Given the description of an element on the screen output the (x, y) to click on. 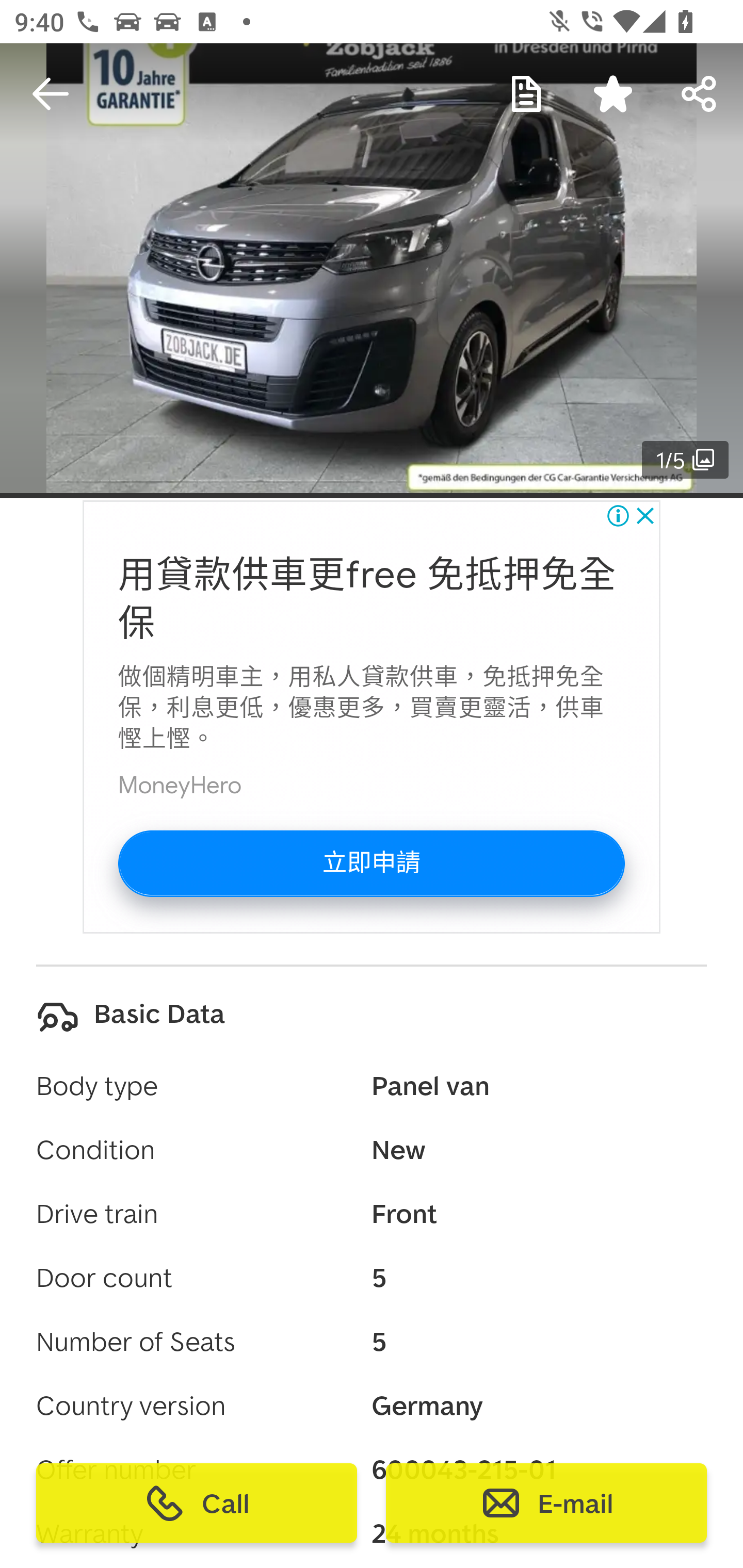
Navigate up (50, 93)
My Notes (525, 93)
Saved (612, 93)
Forward (699, 93)
用貸款供車更free 免抵押免全 保 用貸款供車更free 免抵押免全 保 (366, 598)
MoneyHero (179, 784)
立即申請 (370, 862)
Call (196, 1502)
E-mail (545, 1502)
